Given the description of an element on the screen output the (x, y) to click on. 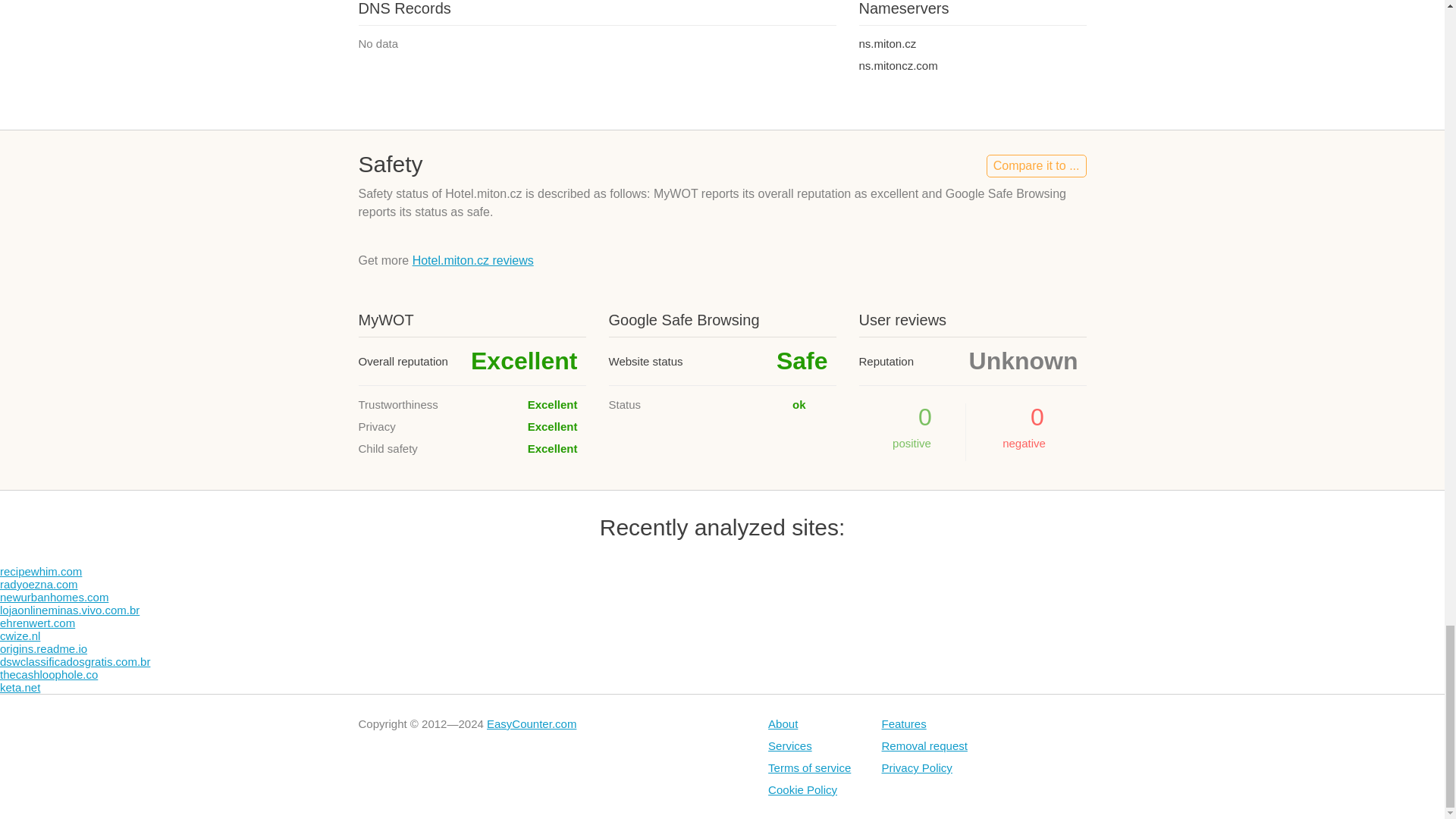
Hotel.miton.cz reviews (473, 259)
newurbanhomes.com (53, 596)
recipewhim.com (40, 571)
Compare it to ... (1036, 165)
radyoezna.com (39, 584)
